Given the description of an element on the screen output the (x, y) to click on. 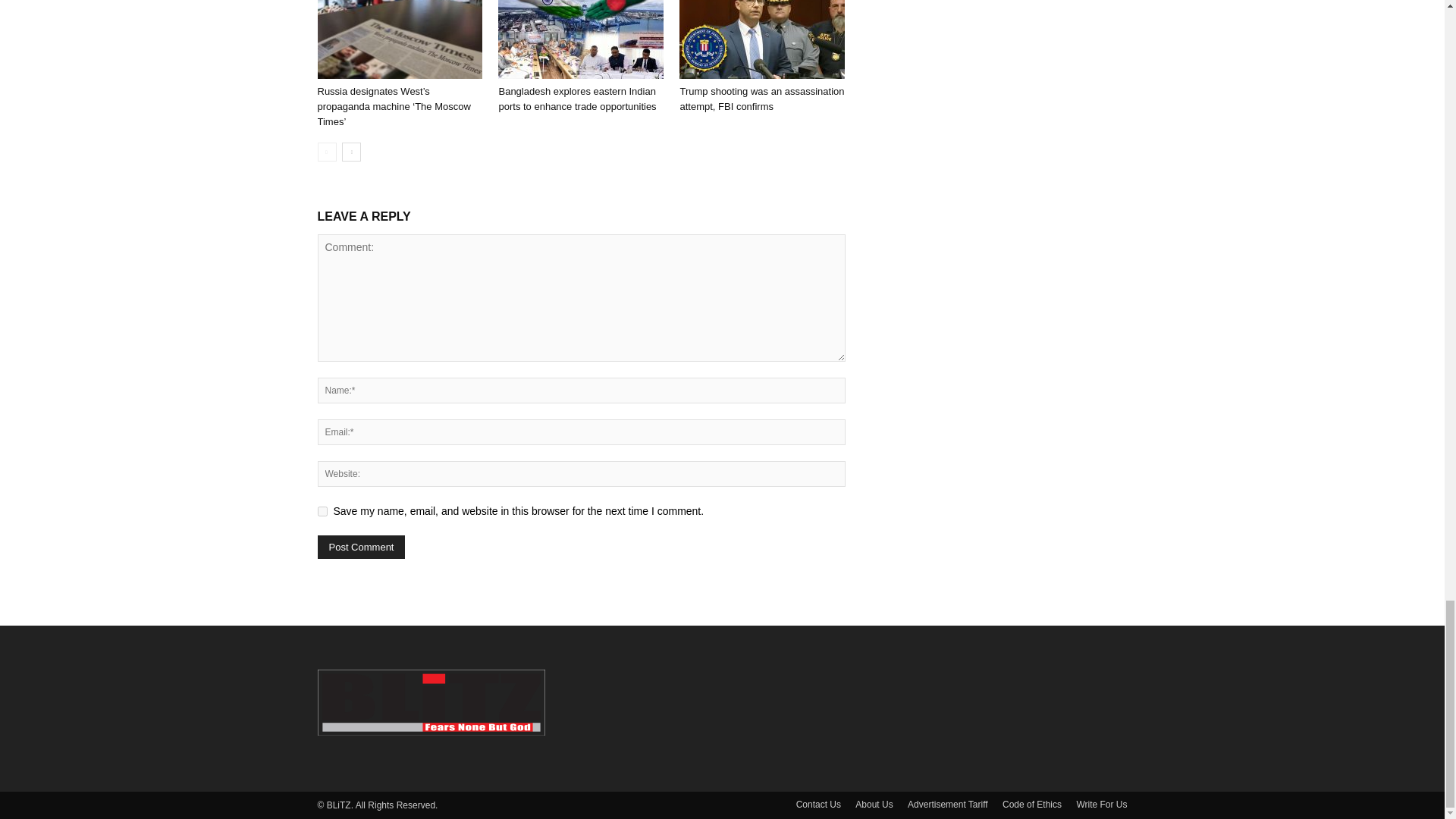
Post Comment (360, 546)
yes (321, 511)
